Given the description of an element on the screen output the (x, y) to click on. 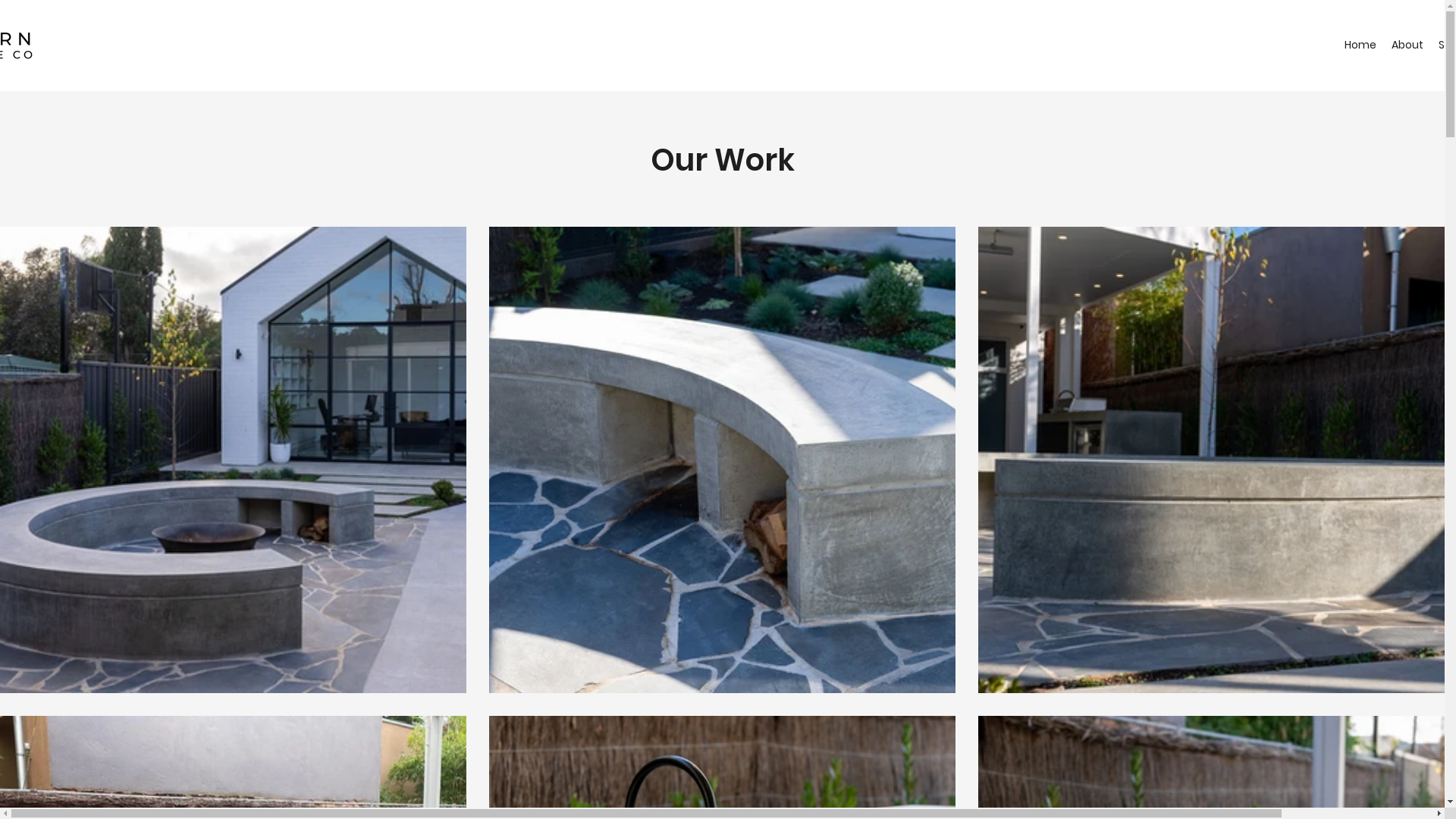
Home Element type: text (1359, 44)
About Element type: text (1406, 44)
